Given the description of an element on the screen output the (x, y) to click on. 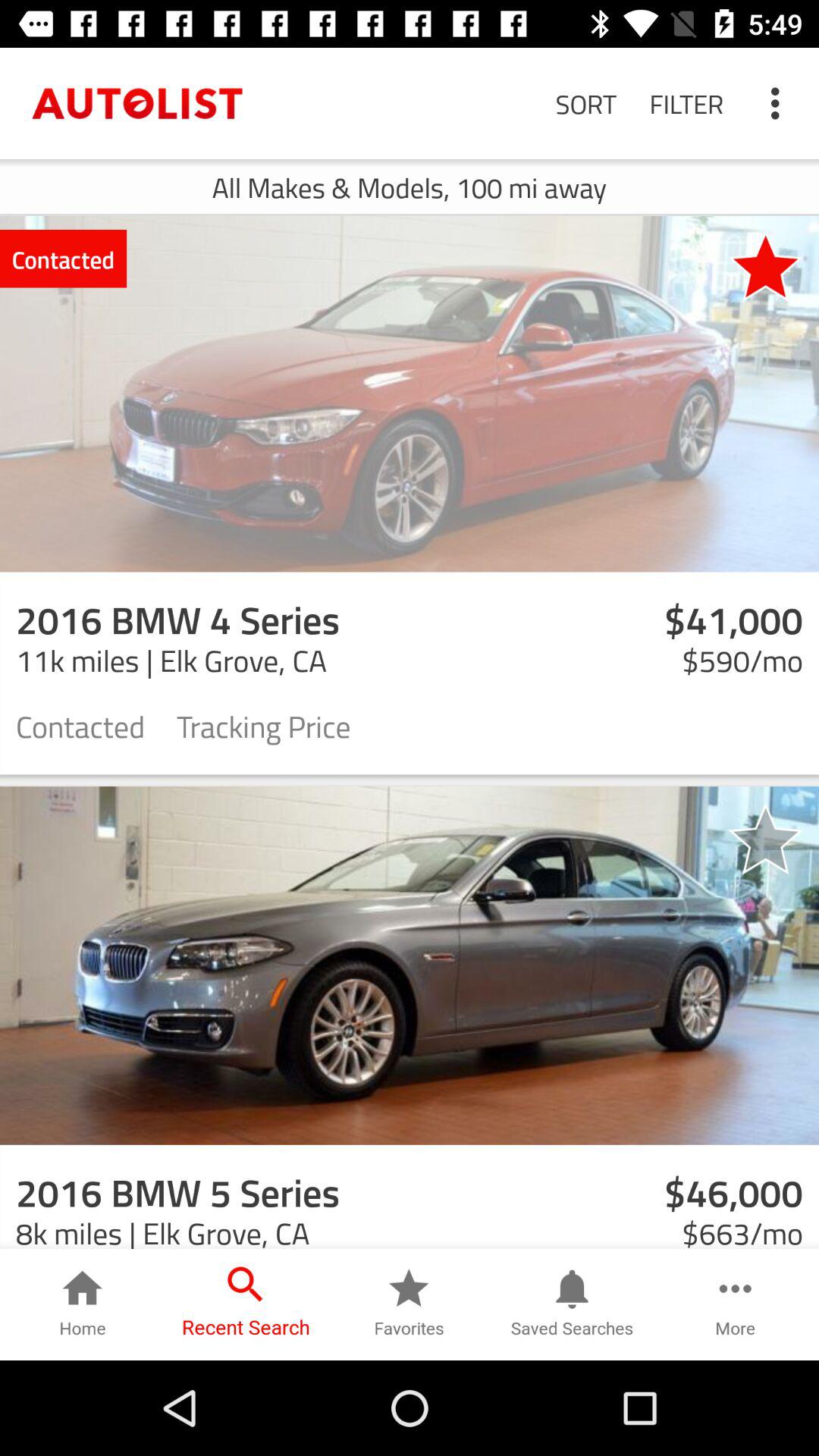
press icon next to $590/mo icon (263, 725)
